Given the description of an element on the screen output the (x, y) to click on. 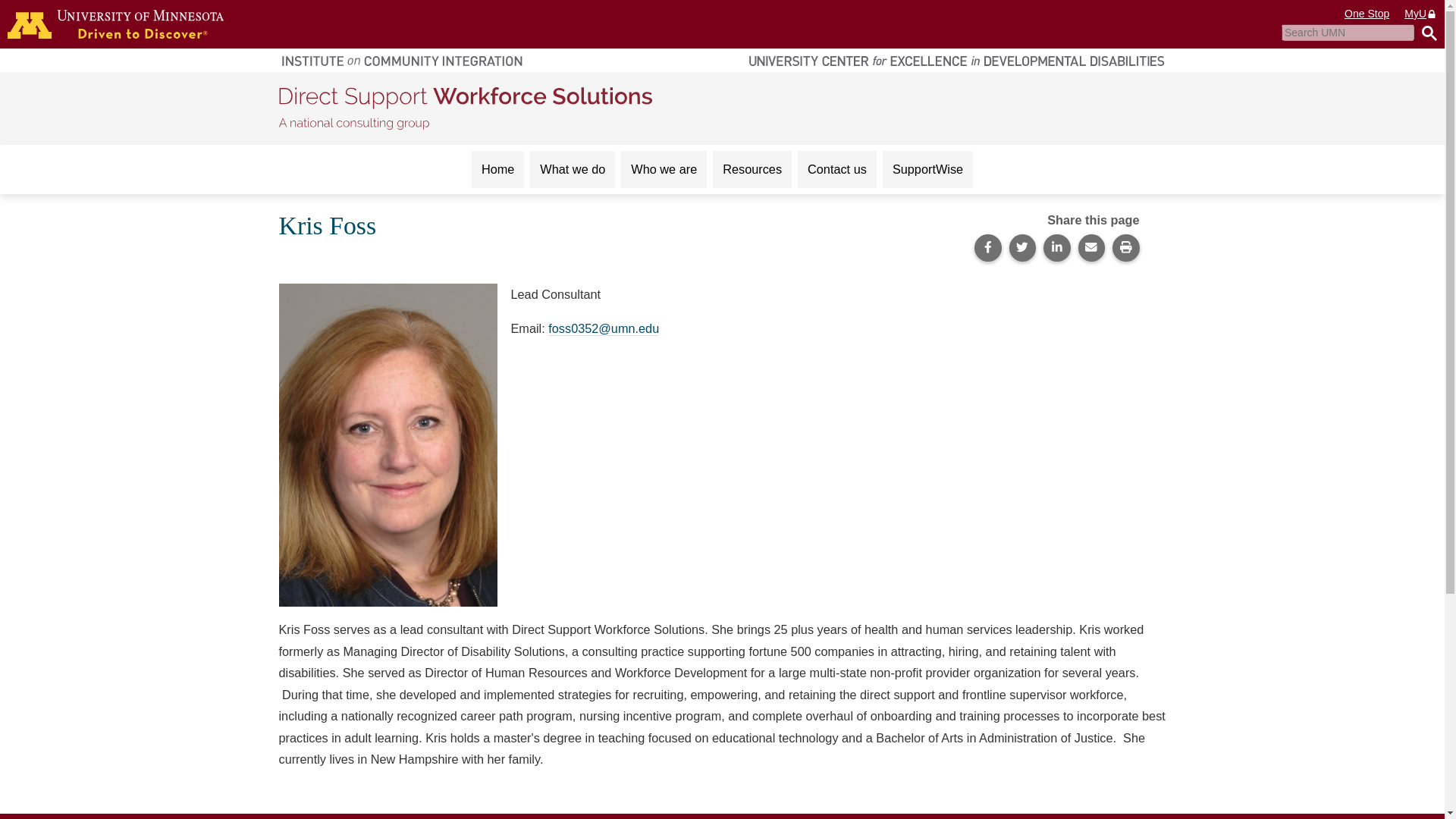
One Stop (1366, 13)
SupportWise (927, 169)
Button (1425, 32)
Share this page on Twitter. (1022, 247)
Share this page on Facebook. (987, 247)
Contact us (836, 169)
Print this page. (1126, 247)
home page (115, 24)
MyU (1421, 13)
What we do (571, 169)
Resources (752, 169)
Goto Website Homepage (465, 106)
Home (497, 169)
Share this page via email. (1091, 247)
Who we are (663, 169)
